Given the description of an element on the screen output the (x, y) to click on. 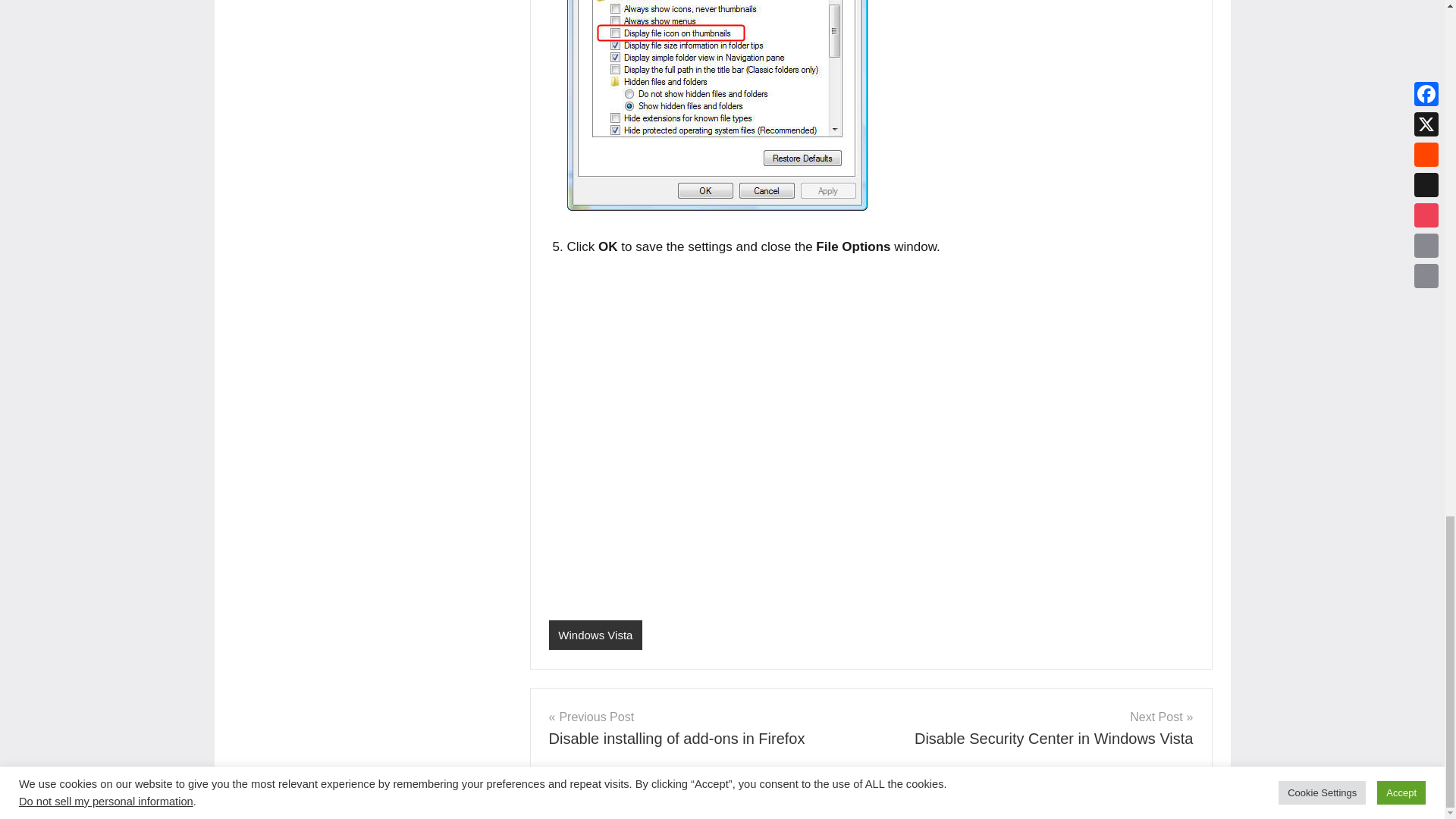
TrishTech.com (386, 802)
Privacy Policy (576, 802)
Terms of Use (703, 727)
Contact Us (720, 802)
Windows Vista (649, 802)
